Given the description of an element on the screen output the (x, y) to click on. 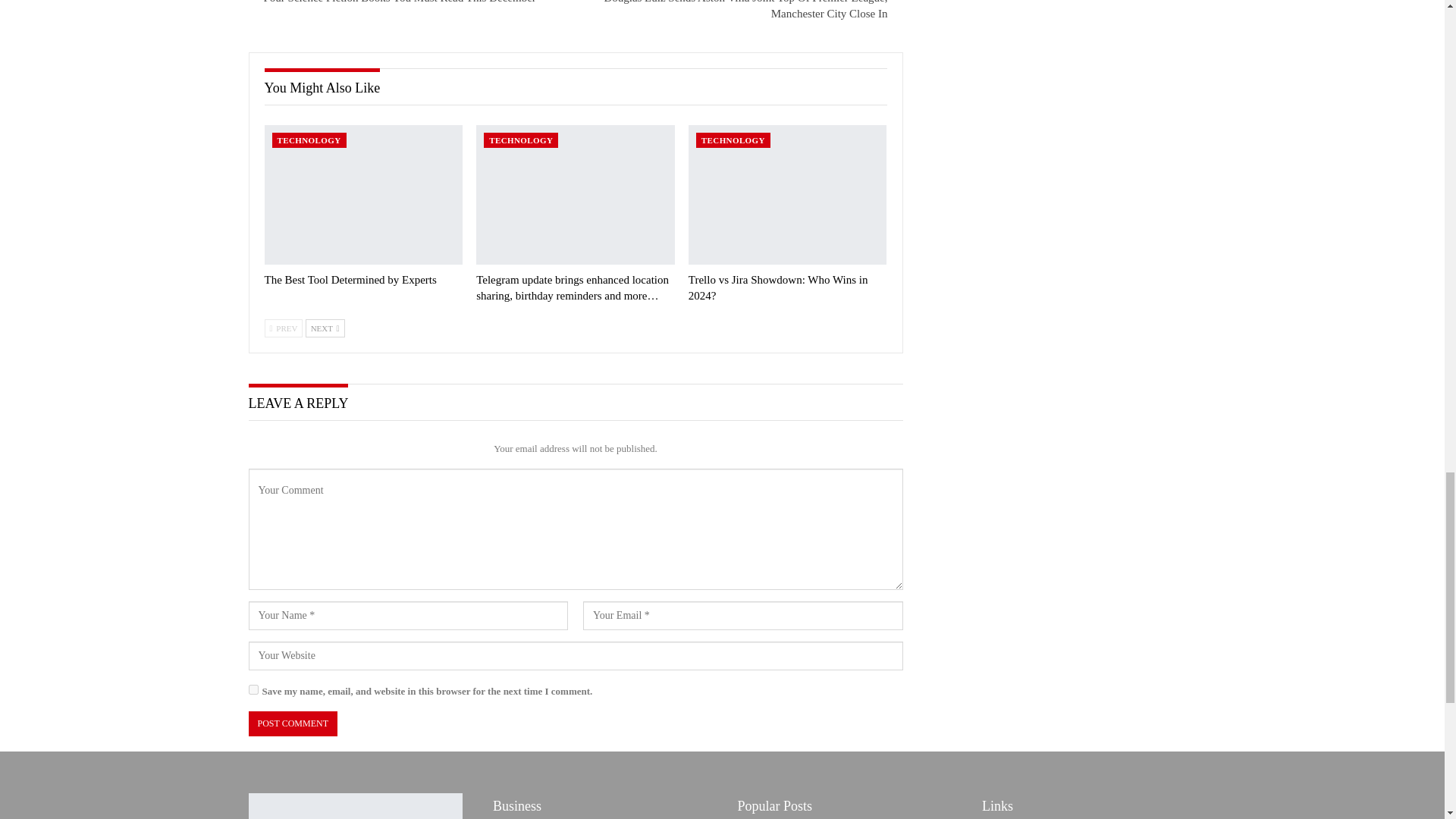
Post Comment (292, 723)
The Best Tool Determined by Experts (363, 194)
yes (253, 689)
The Best Tool Determined by Experts (349, 279)
Trello vs Jira Showdown: Who Wins in 2024? (787, 194)
Trello vs Jira Showdown: Who Wins in 2024? (777, 287)
